Given the description of an element on the screen output the (x, y) to click on. 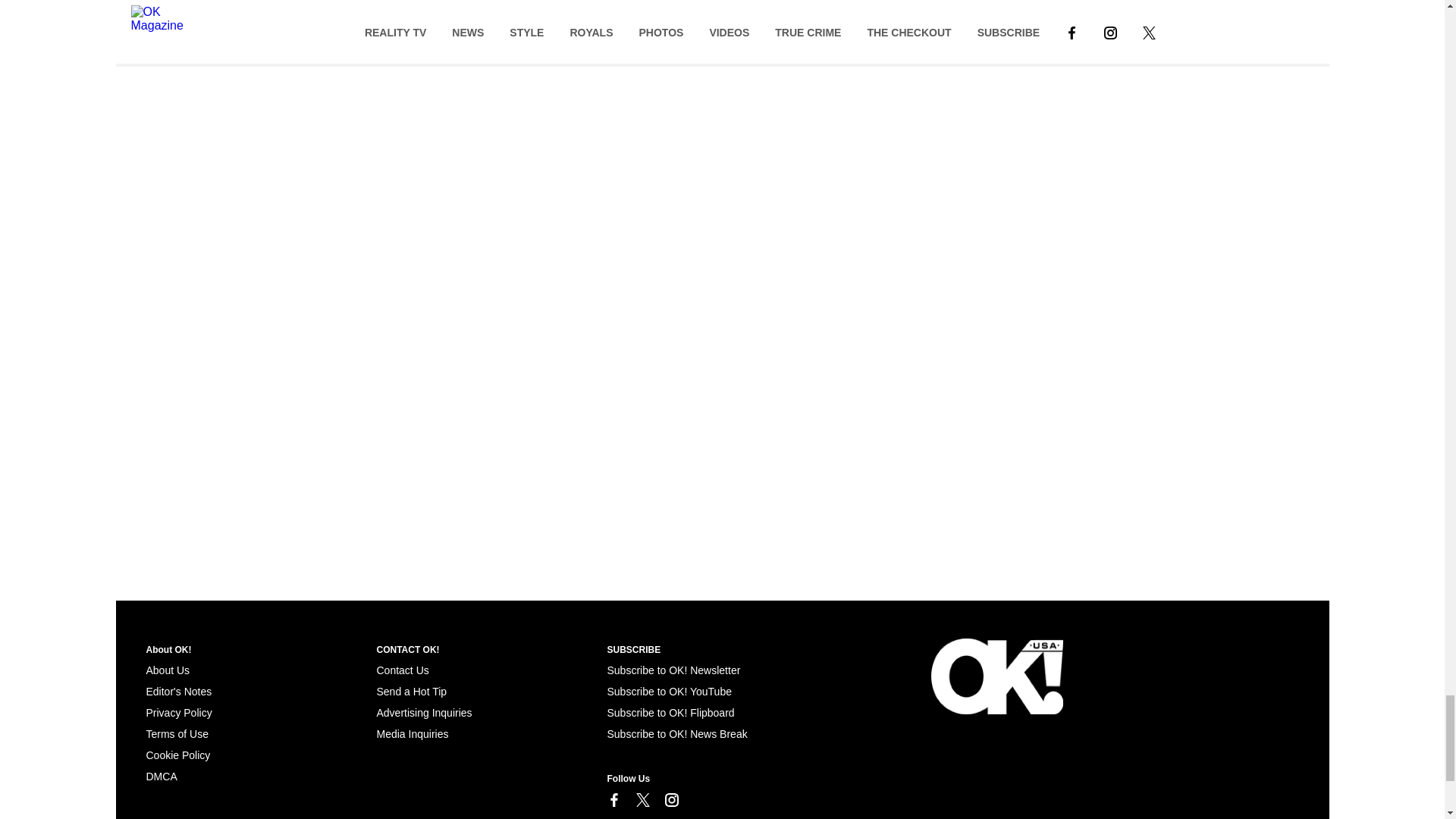
Link to Facebook (613, 799)
Contact Us (401, 670)
Media Inquiries (411, 734)
Privacy Policy (178, 712)
Cookie Policy (177, 755)
Editor's Notes (178, 691)
Cookie Policy (160, 776)
Link to X (641, 799)
Advertising Inquiries (423, 712)
About Us (167, 670)
Link to Instagram (670, 799)
Terms of Use (176, 734)
Send a Hot Tip (410, 691)
